Given the description of an element on the screen output the (x, y) to click on. 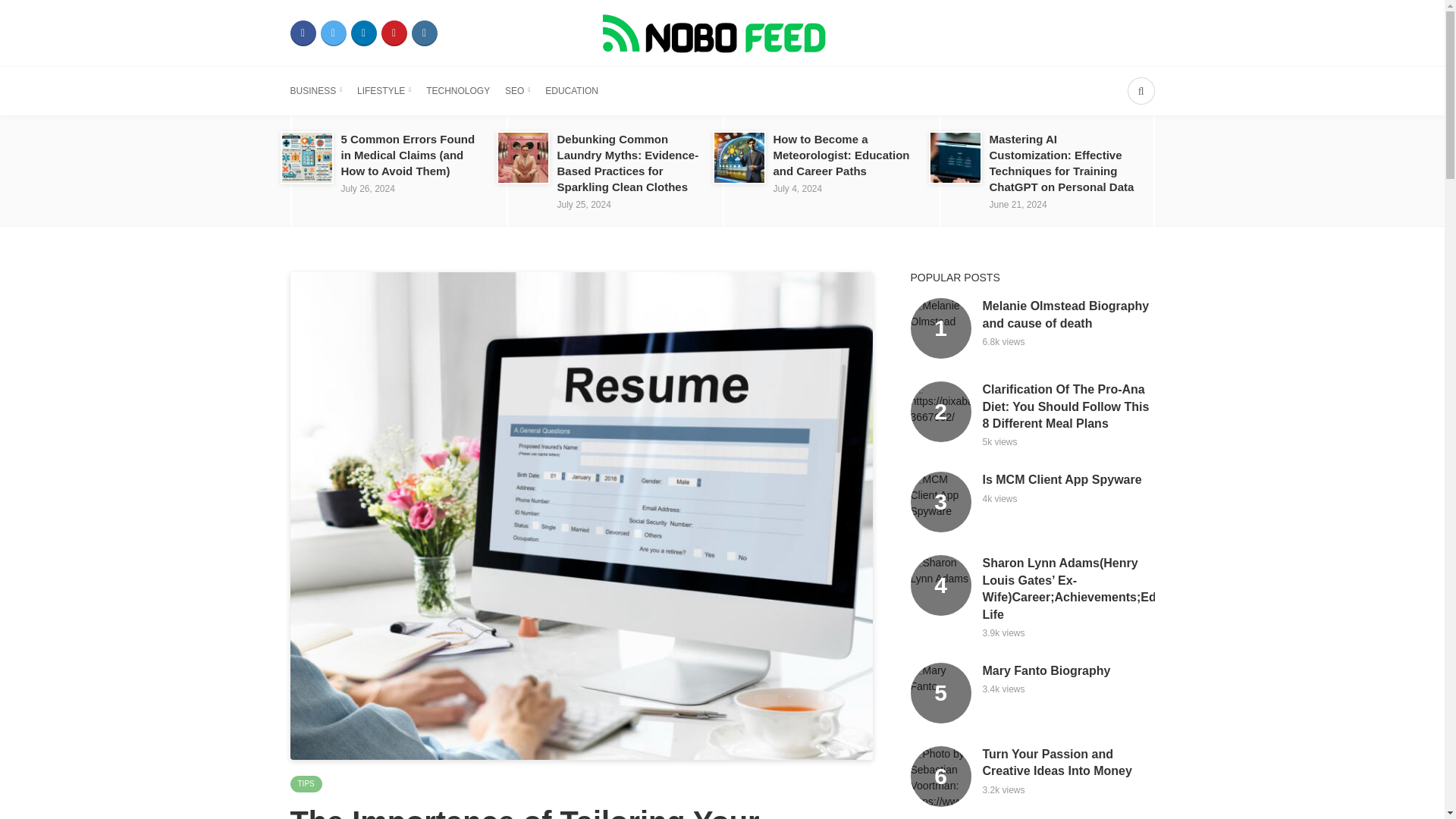
July 26, 2024 (367, 188)
EDUCATION (571, 90)
July 4, 2024 (797, 188)
Instagram (423, 32)
Pinterest (393, 32)
LIFESTYLE (383, 90)
BUSINESS (315, 90)
View all posts in Tips (305, 783)
July 25, 2024 (583, 204)
